Given the description of an element on the screen output the (x, y) to click on. 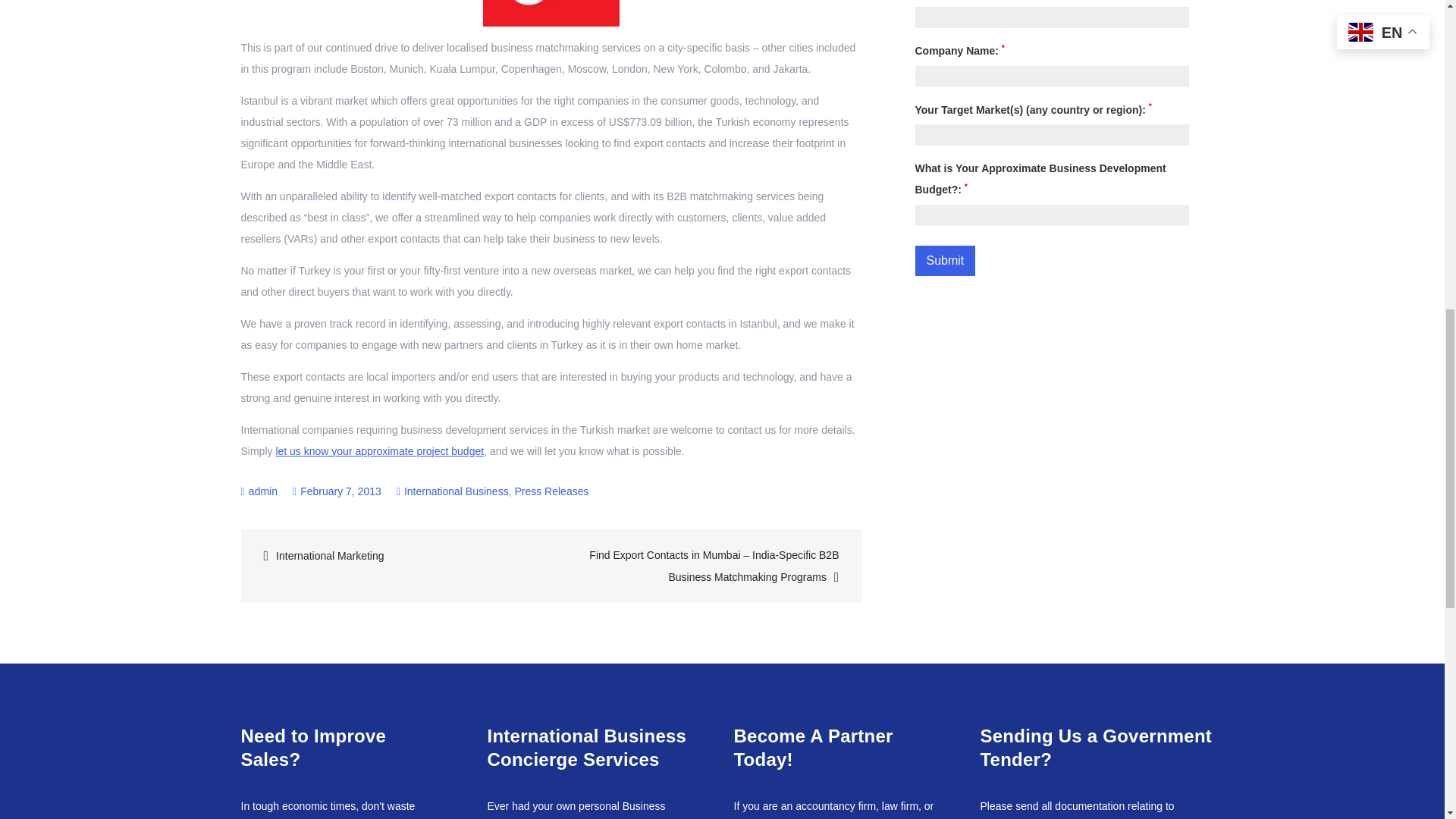
Business Development Enquiry (379, 451)
Submit (944, 260)
Export Contacts in Istanbul Turkey (551, 13)
